Given the description of an element on the screen output the (x, y) to click on. 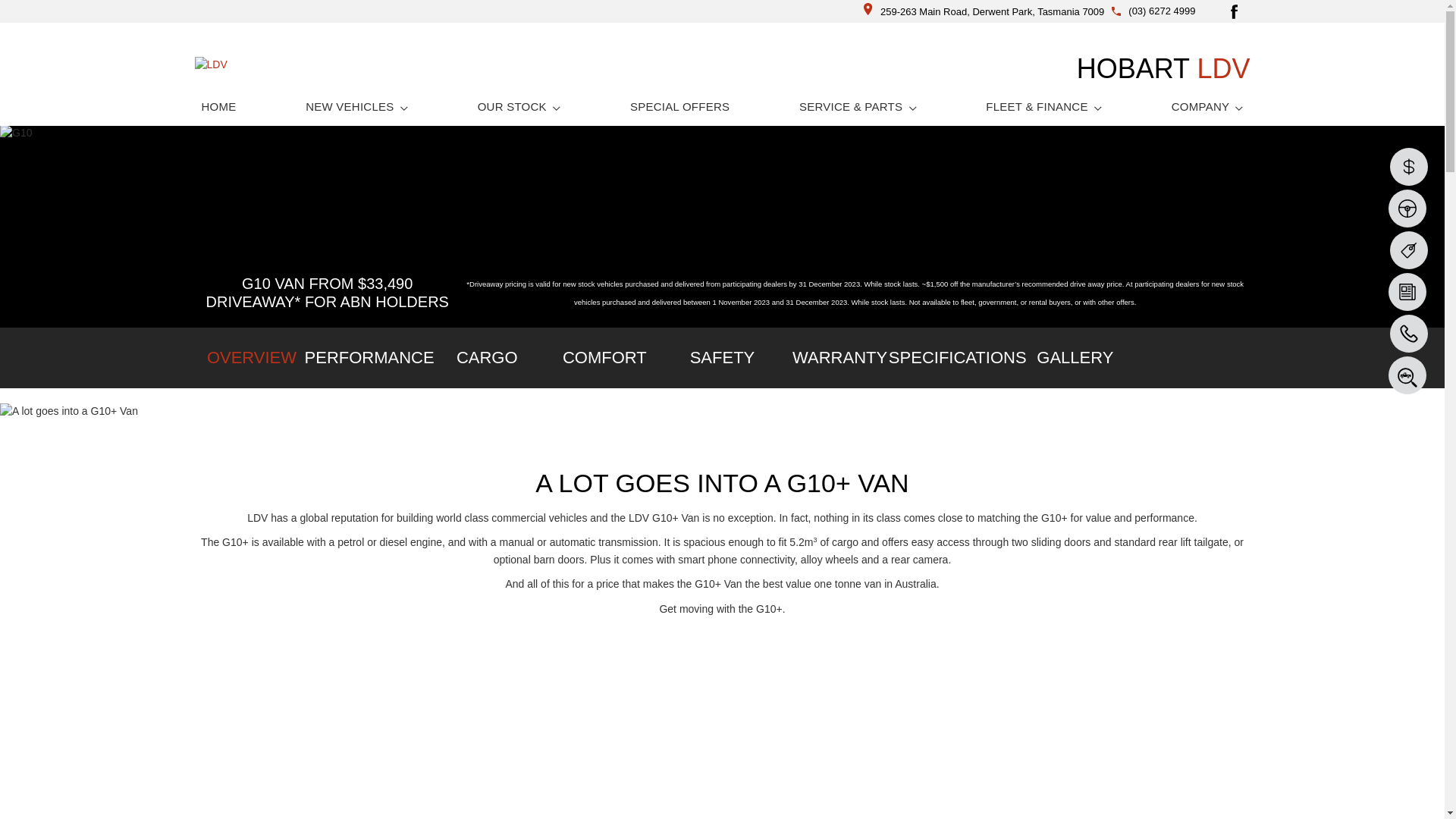
SAFETY Element type: text (722, 357)
OVERVIEW Element type: text (251, 357)
PERFORMANCE Element type: text (369, 357)
WARRANTY Element type: text (839, 357)
NEW VEHICLES Element type: text (356, 106)
SPECIFICATIONS Element type: text (957, 357)
(03) 6272 4999 Element type: text (1161, 10)
GALLERY Element type: text (1074, 357)
OUR STOCK Element type: text (518, 106)
CARGO Element type: text (486, 357)
COMPANY Element type: text (1207, 106)
HOME Element type: text (218, 106)
GET A QUOTE Element type: text (721, 641)
FLEET & FINANCE Element type: text (1043, 106)
COMFORT Element type: text (604, 357)
259-263 Main Road, Derwent Park, Tasmania 7009 Element type: text (983, 11)
SPECIAL OFFERS Element type: text (679, 106)
SERVICE & PARTS Element type: text (857, 106)
